Given the description of an element on the screen output the (x, y) to click on. 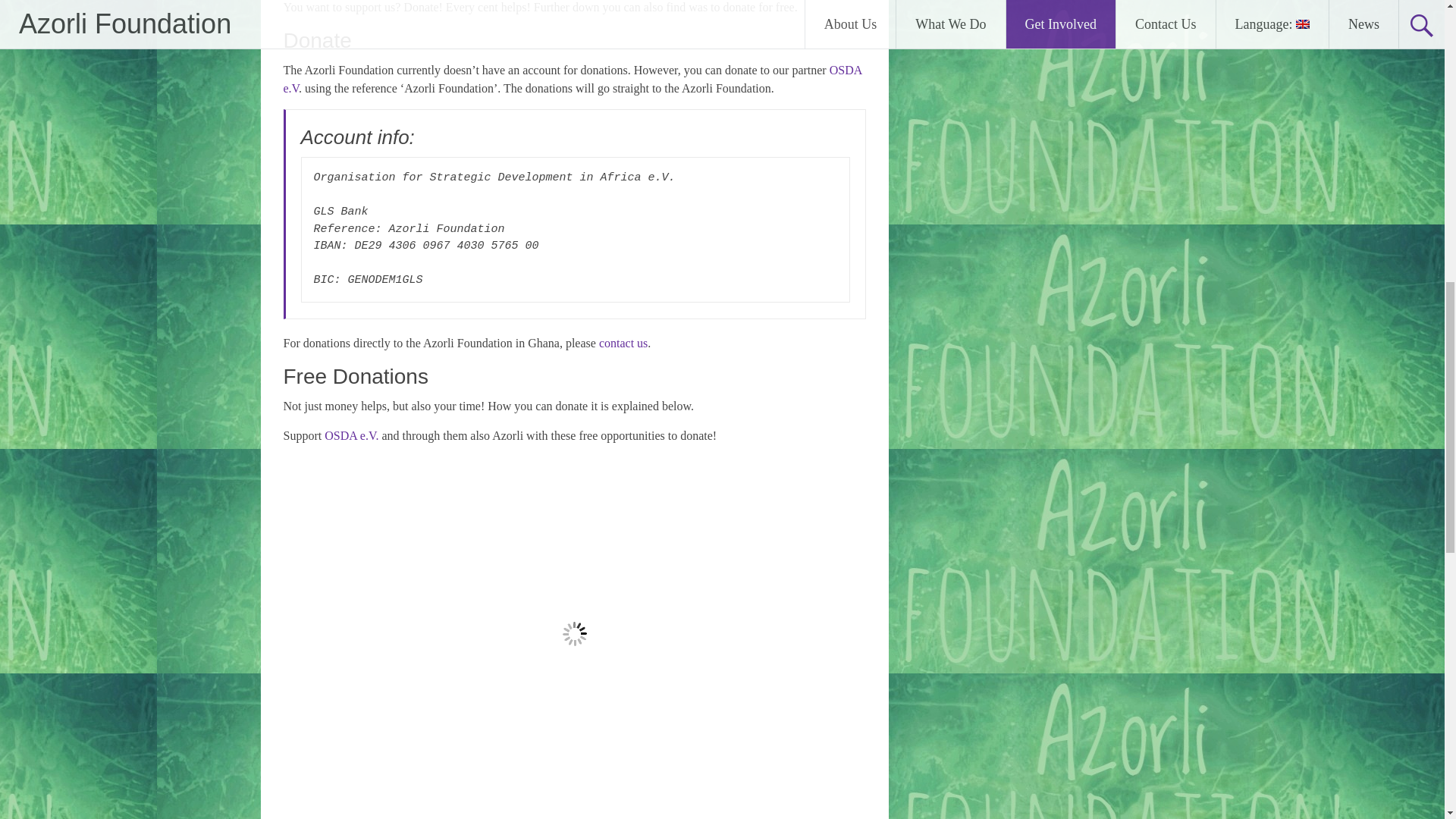
contact us (622, 342)
OSDA e.V (572, 79)
OSDA e.V. (351, 435)
